Given the description of an element on the screen output the (x, y) to click on. 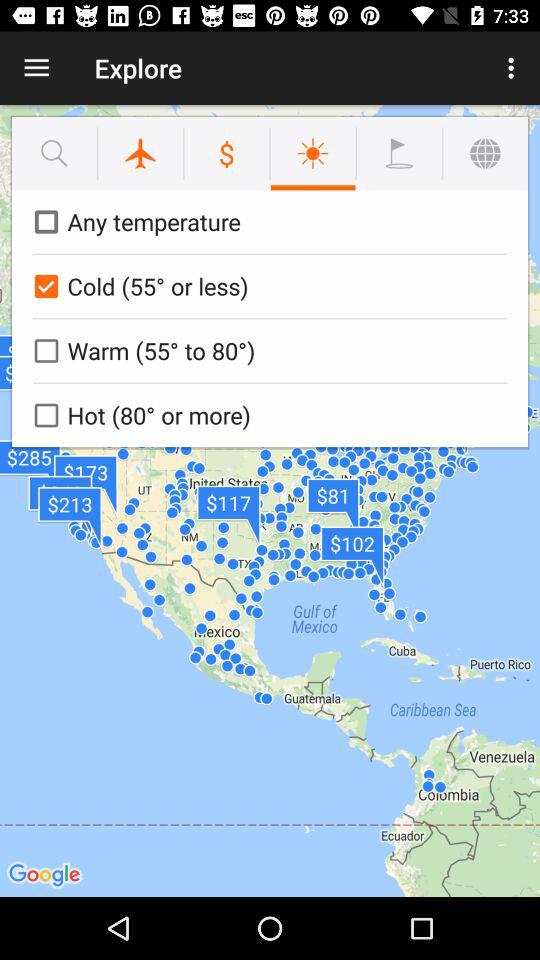
choose the cold 55 or icon (266, 286)
